Given the description of an element on the screen output the (x, y) to click on. 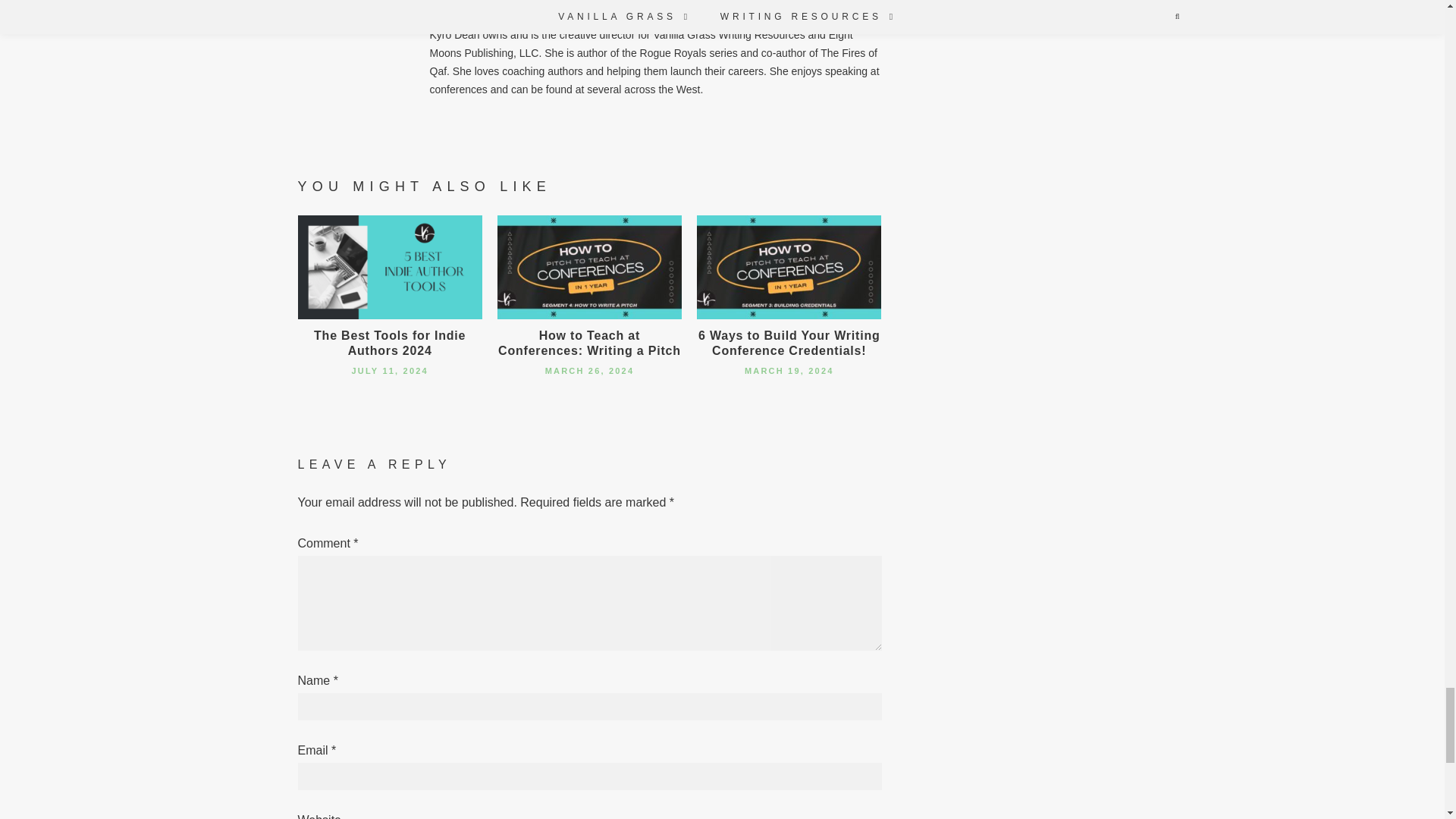
KYRO DEAN (494, 2)
The Best Tools for Indie Authors 2024 (389, 343)
